Given the description of an element on the screen output the (x, y) to click on. 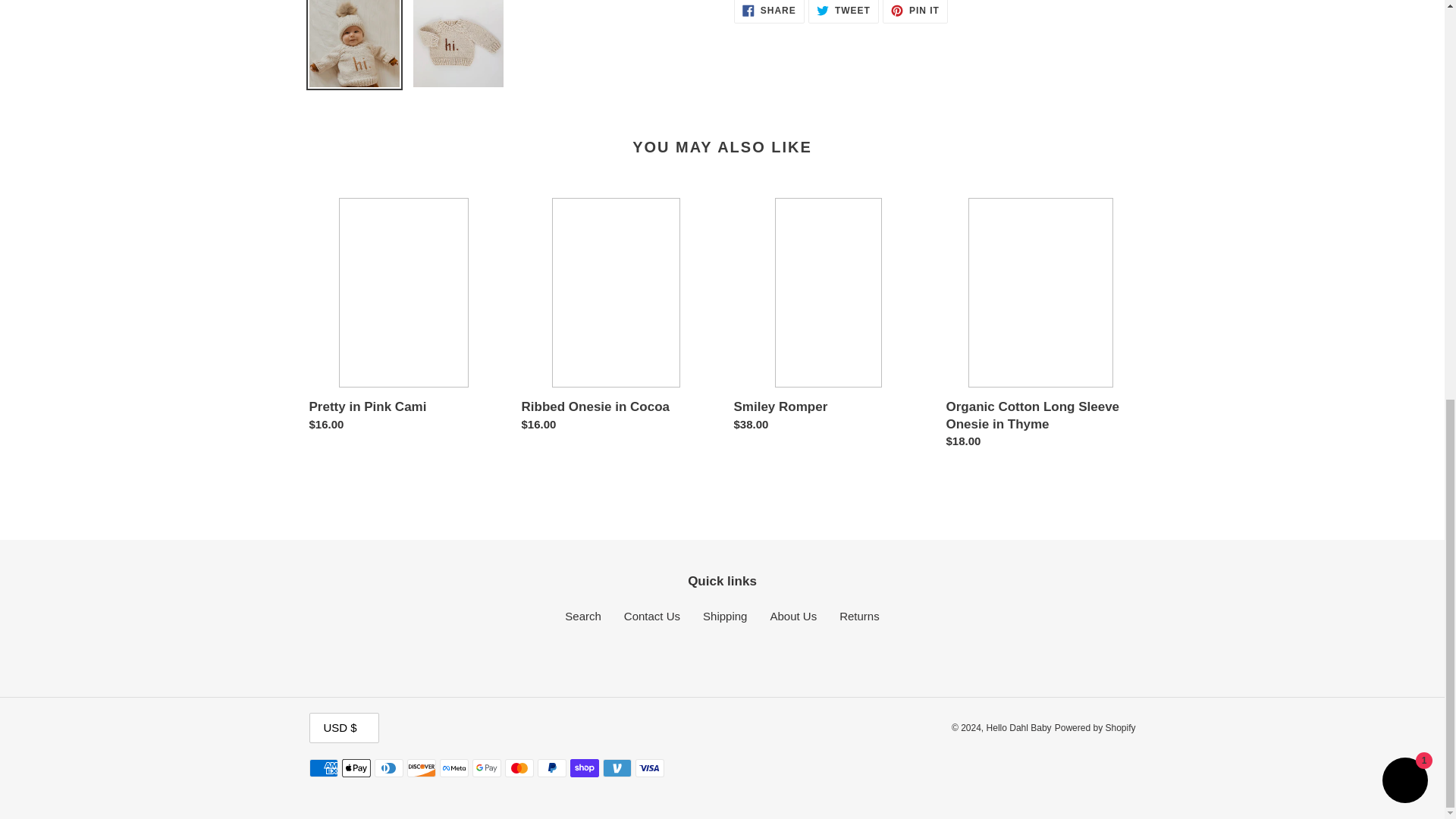
Shopify online store chat (1404, 13)
